Given the description of an element on the screen output the (x, y) to click on. 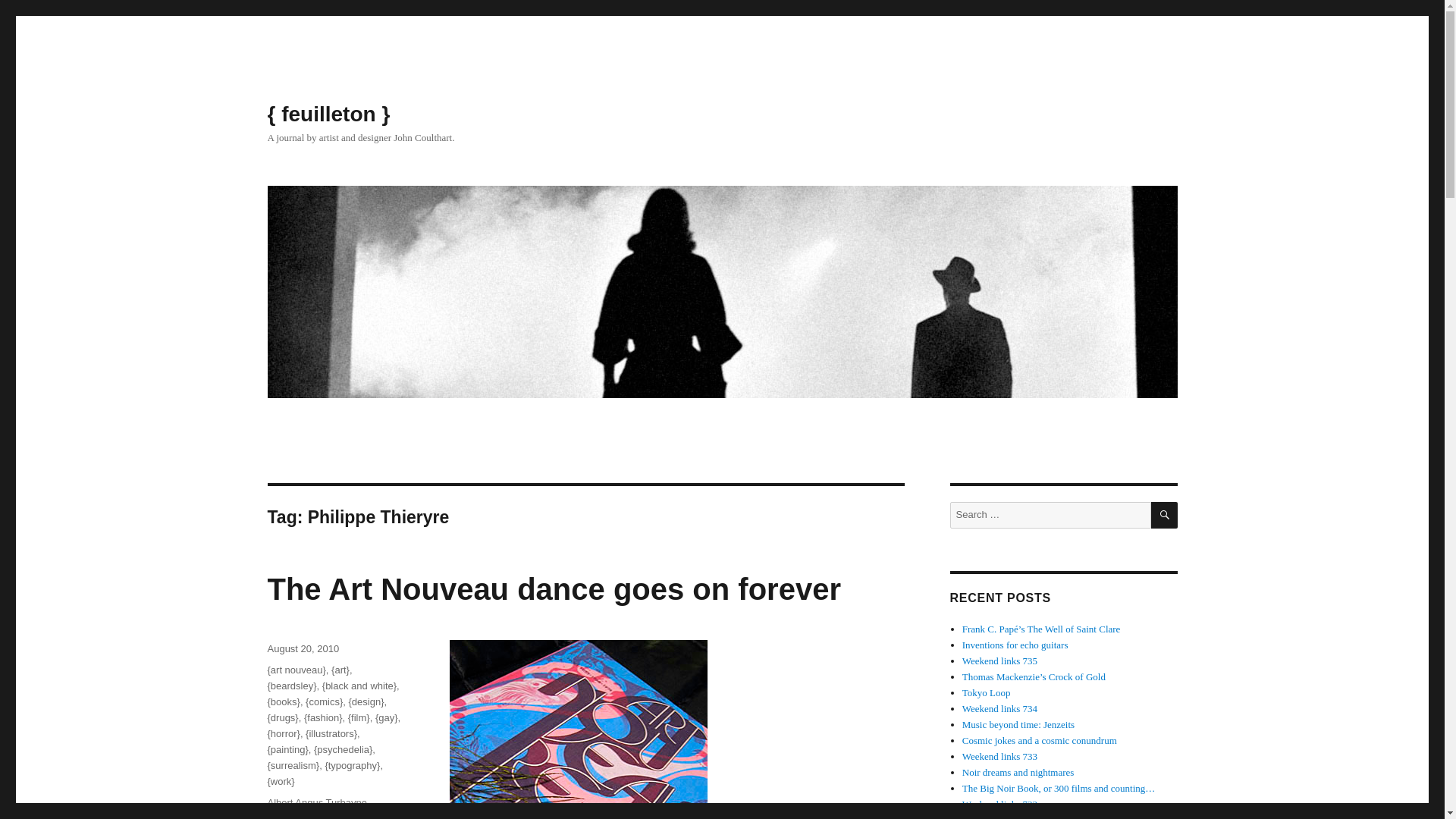
August 20, 2010 (302, 648)
androgyny (289, 816)
Albert Angus Turbayne (316, 802)
The Art Nouveau dance goes on forever (553, 589)
Aubrey Beardsley (355, 816)
